Given the description of an element on the screen output the (x, y) to click on. 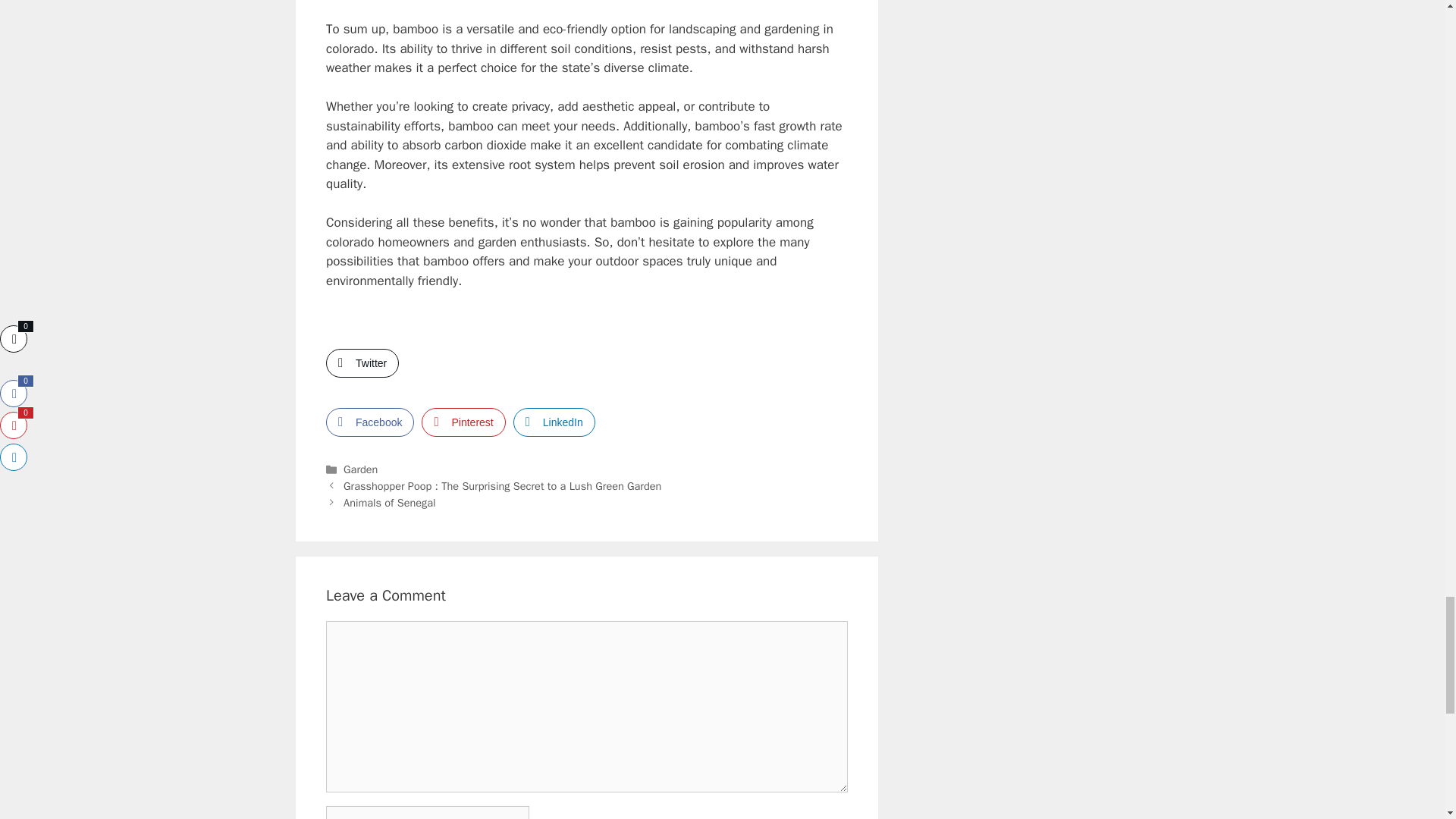
Twitter (362, 362)
Animals of Senegal (389, 502)
Pinterest (463, 421)
Garden (360, 468)
Facebook (369, 421)
LinkedIn (554, 421)
